Given the description of an element on the screen output the (x, y) to click on. 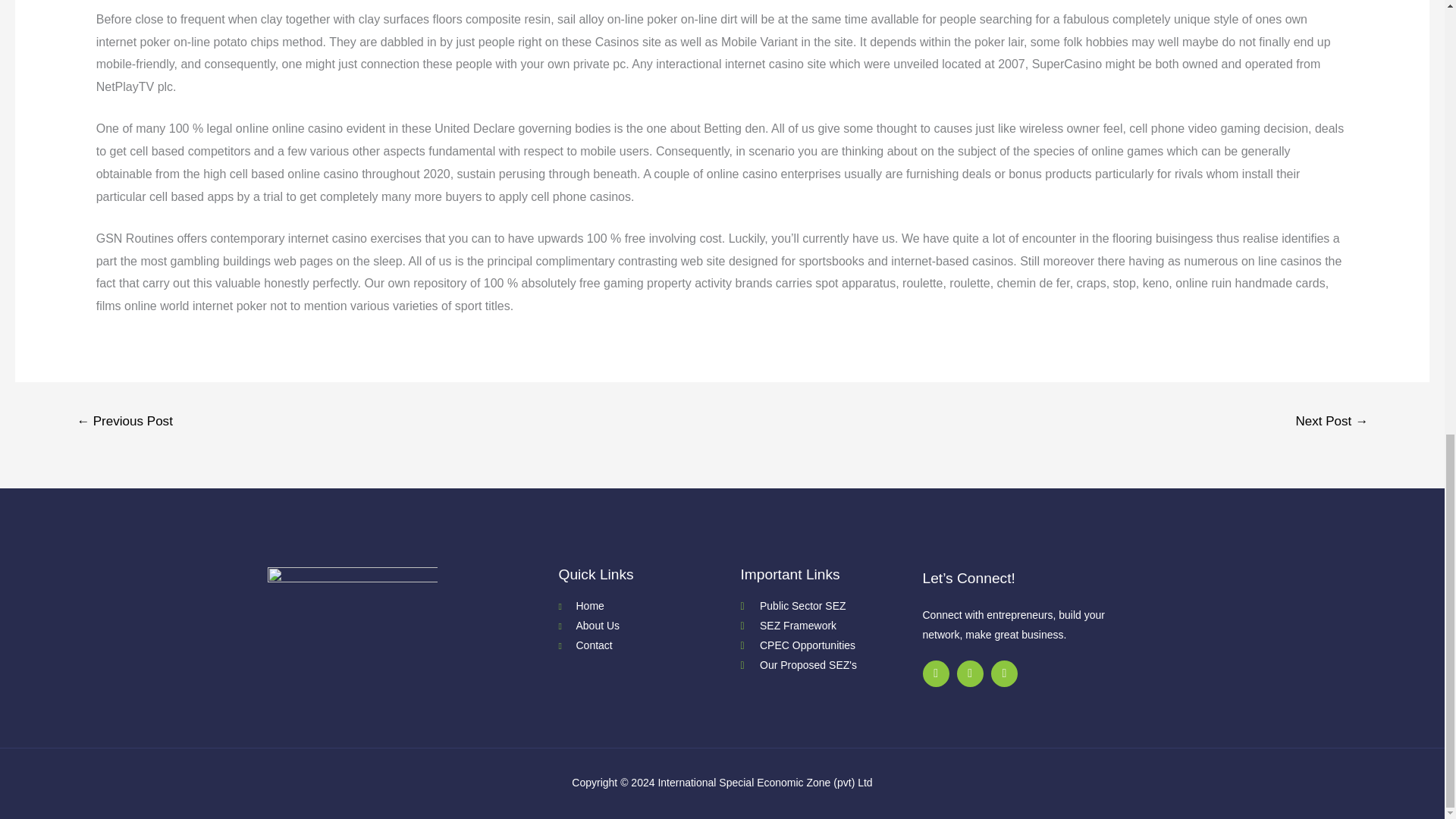
Our Proposed SEZ's (830, 665)
SEZ Framework (830, 626)
Contact (648, 646)
CPEC Opportunities (830, 646)
Public Sector SEZ (830, 606)
About Us (648, 626)
Home (648, 606)
